Given the description of an element on the screen output the (x, y) to click on. 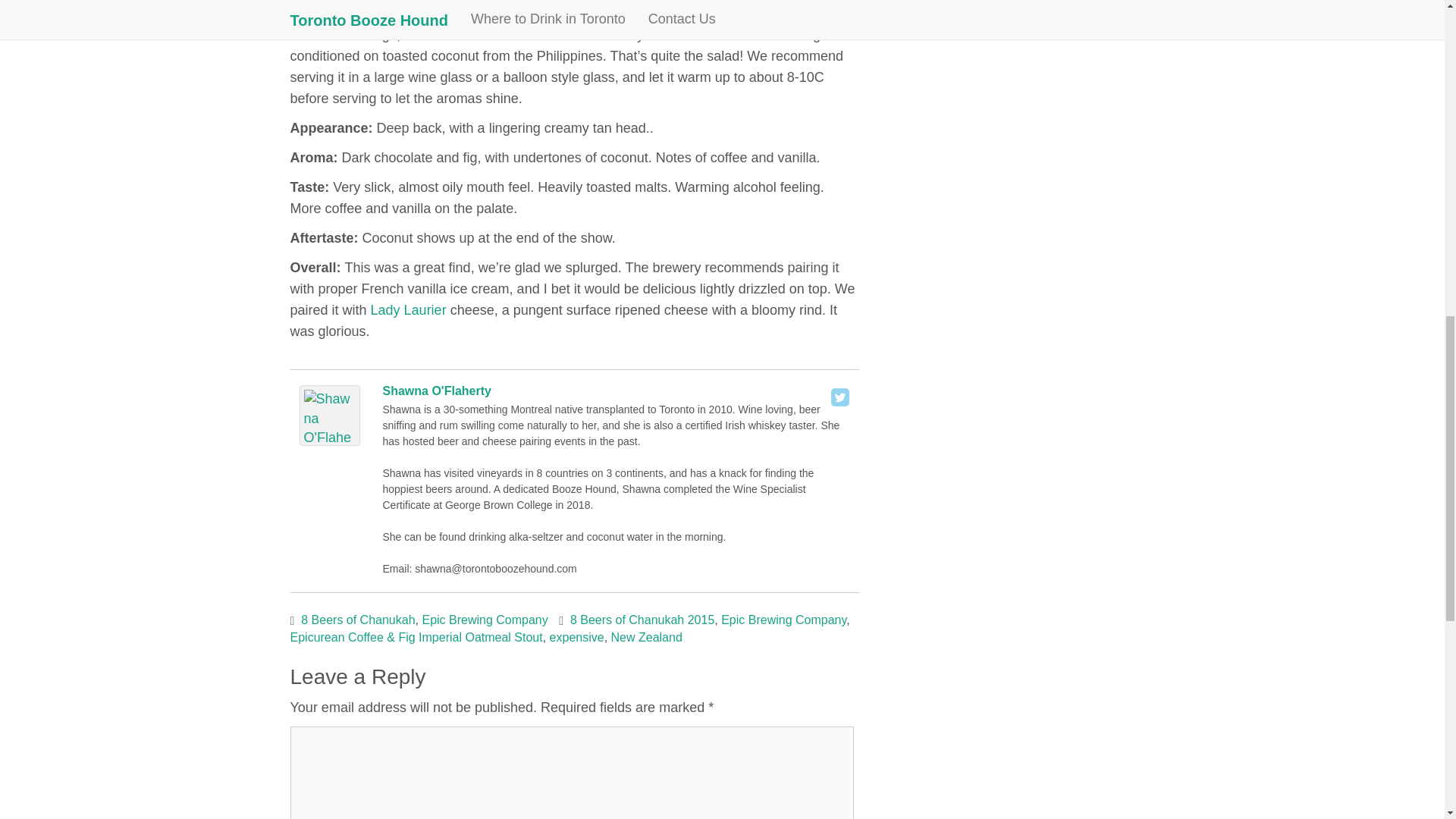
8 Beers of Chanukah 2015 (642, 619)
expensive (577, 636)
Epic Brewing Company (782, 619)
Lady Laurier (408, 309)
New Zealand (646, 636)
Twitter (839, 397)
8 Beers of Chanukah (357, 619)
Epic Brewing Company (484, 619)
Shawna O'Flaherty (435, 390)
